Given the description of an element on the screen output the (x, y) to click on. 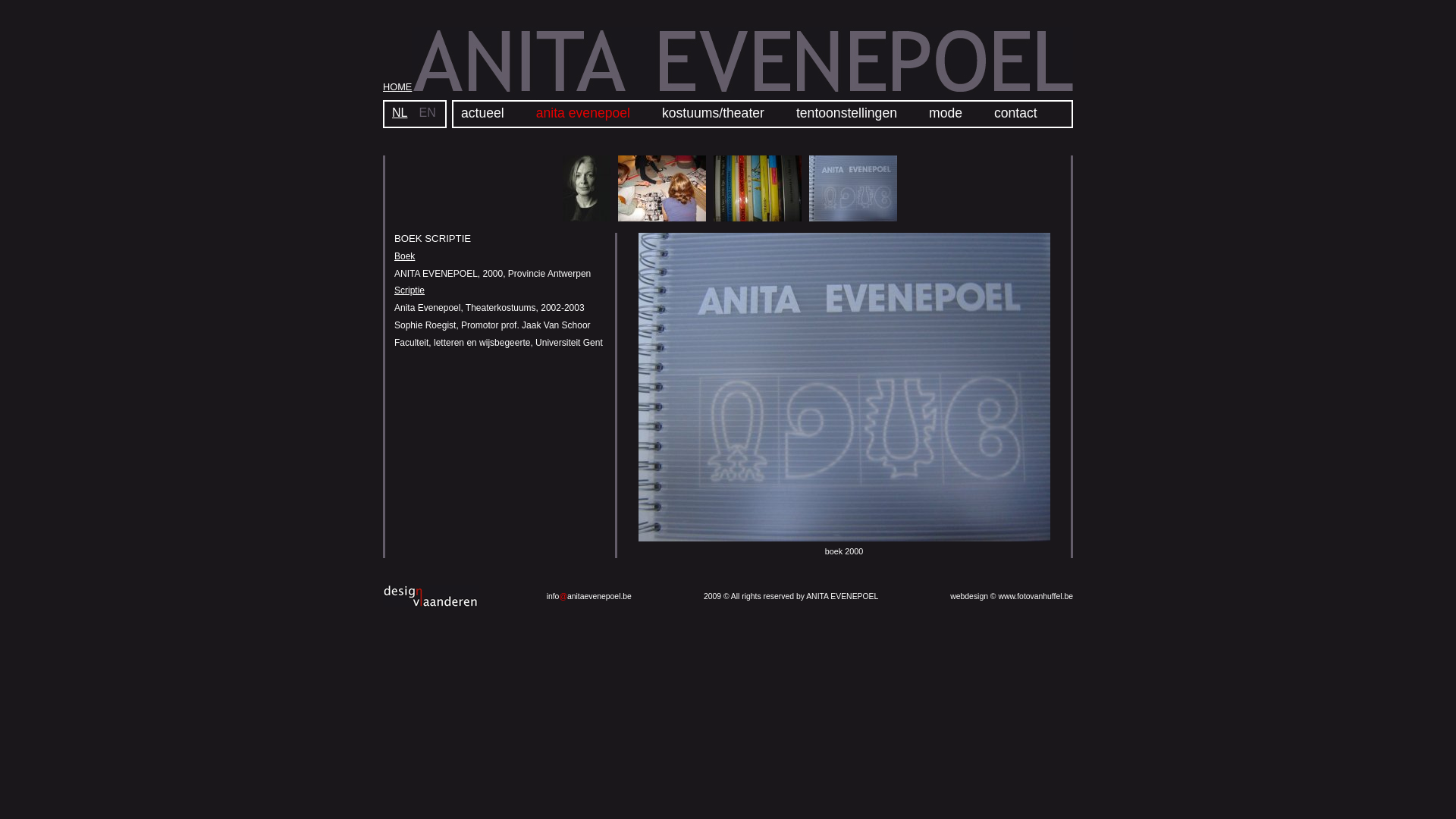
anita evenepoel Element type: text (583, 112)
publicaties Element type: hover (757, 218)
actueel Element type: text (482, 112)
mode Element type: text (945, 112)
docent Element type: hover (662, 218)
info@anitaevenepoel.be Element type: text (588, 596)
HOME Element type: text (396, 86)
Design Vlaanderen Element type: hover (430, 595)
boek    scriptie Element type: hover (853, 218)
tentoonstellingen Element type: text (846, 112)
www.fotovanhuffel.be Element type: text (1035, 596)
EN Element type: text (426, 112)
Anita Evenepoel Element type: hover (742, 63)
NL Element type: text (399, 112)
Anita Evenepoel Element type: hover (586, 218)
contact Element type: text (1015, 112)
boek 2000 Element type: hover (844, 538)
kostuums/theater Element type: text (713, 112)
